Given the description of an element on the screen output the (x, y) to click on. 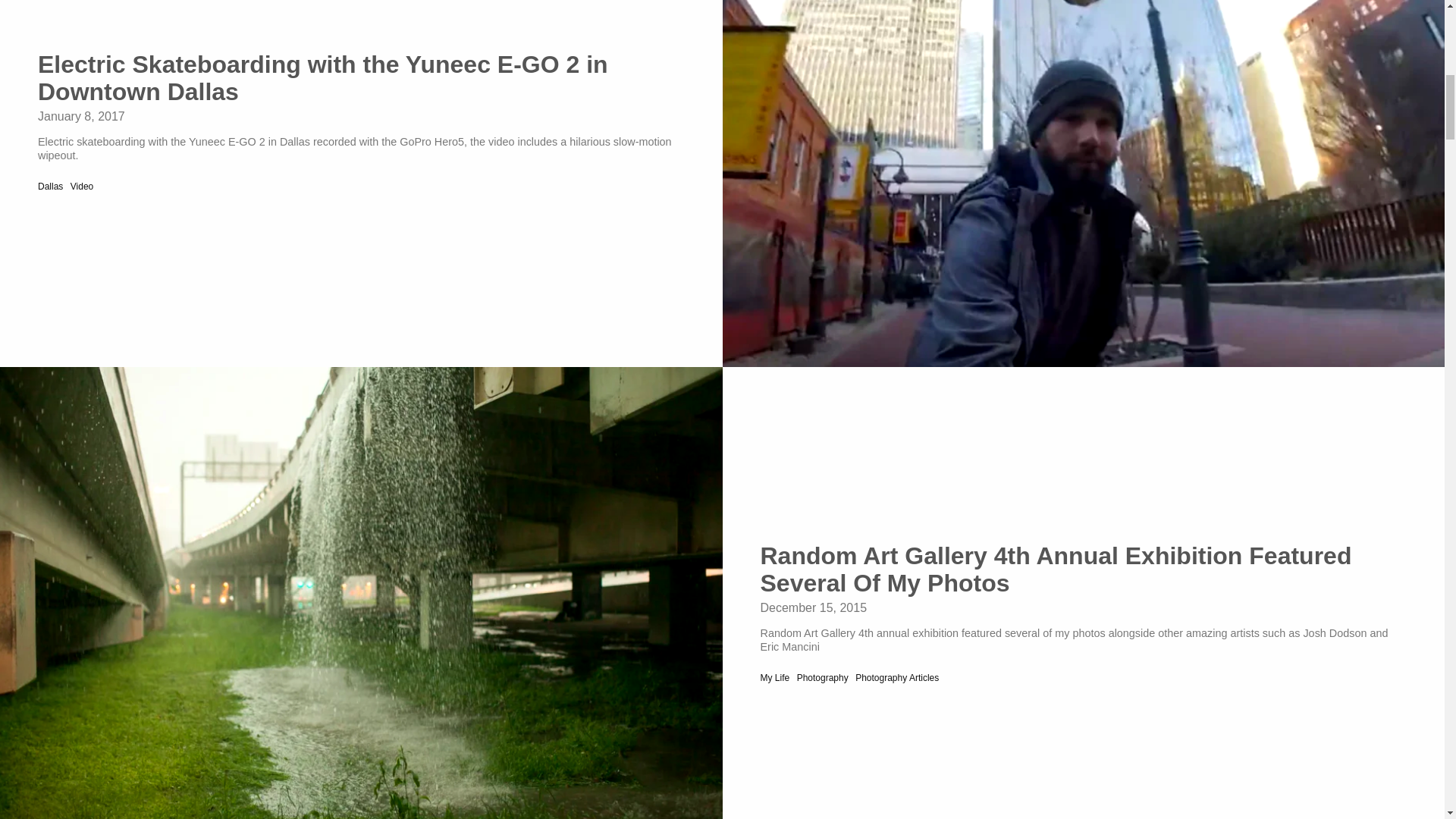
Dallas (49, 185)
My Life (774, 677)
Photography Articles (897, 677)
Photography (822, 677)
Video (81, 185)
